Given the description of an element on the screen output the (x, y) to click on. 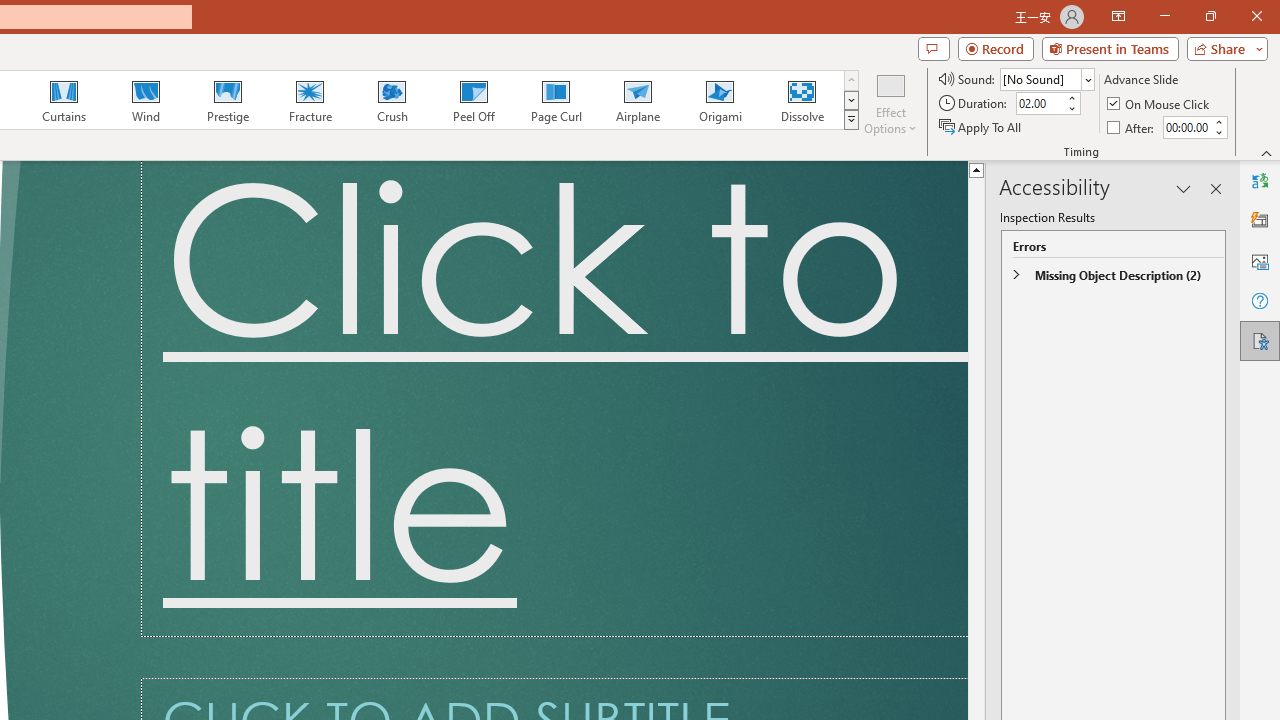
Alt Text (1260, 260)
After (1131, 126)
Dissolve (802, 100)
Title TextBox (553, 399)
Crush (391, 100)
Origami (719, 100)
Translator (1260, 180)
